Given the description of an element on the screen output the (x, y) to click on. 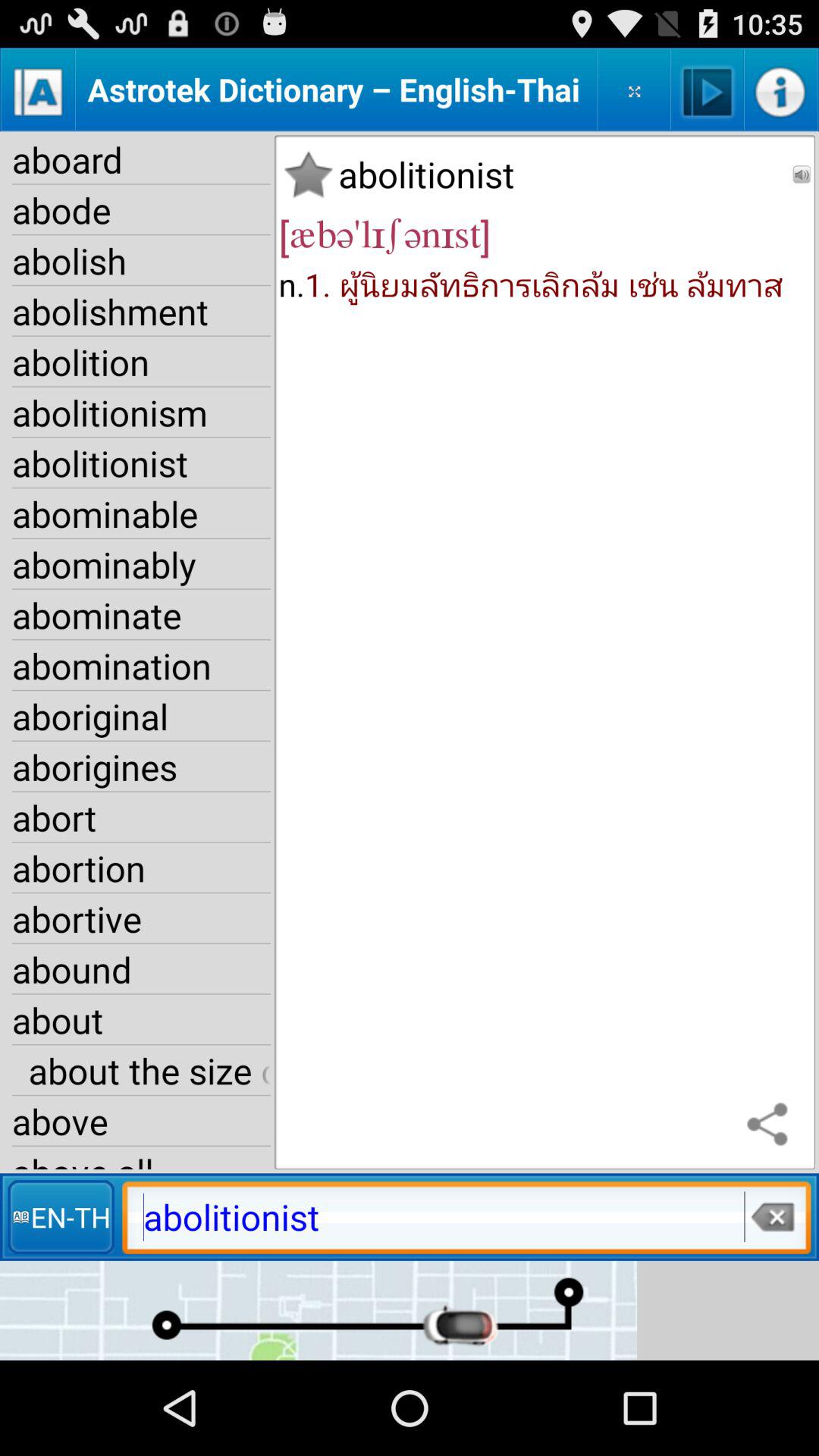
choose the button to the right of en-th item (771, 1216)
